Given the description of an element on the screen output the (x, y) to click on. 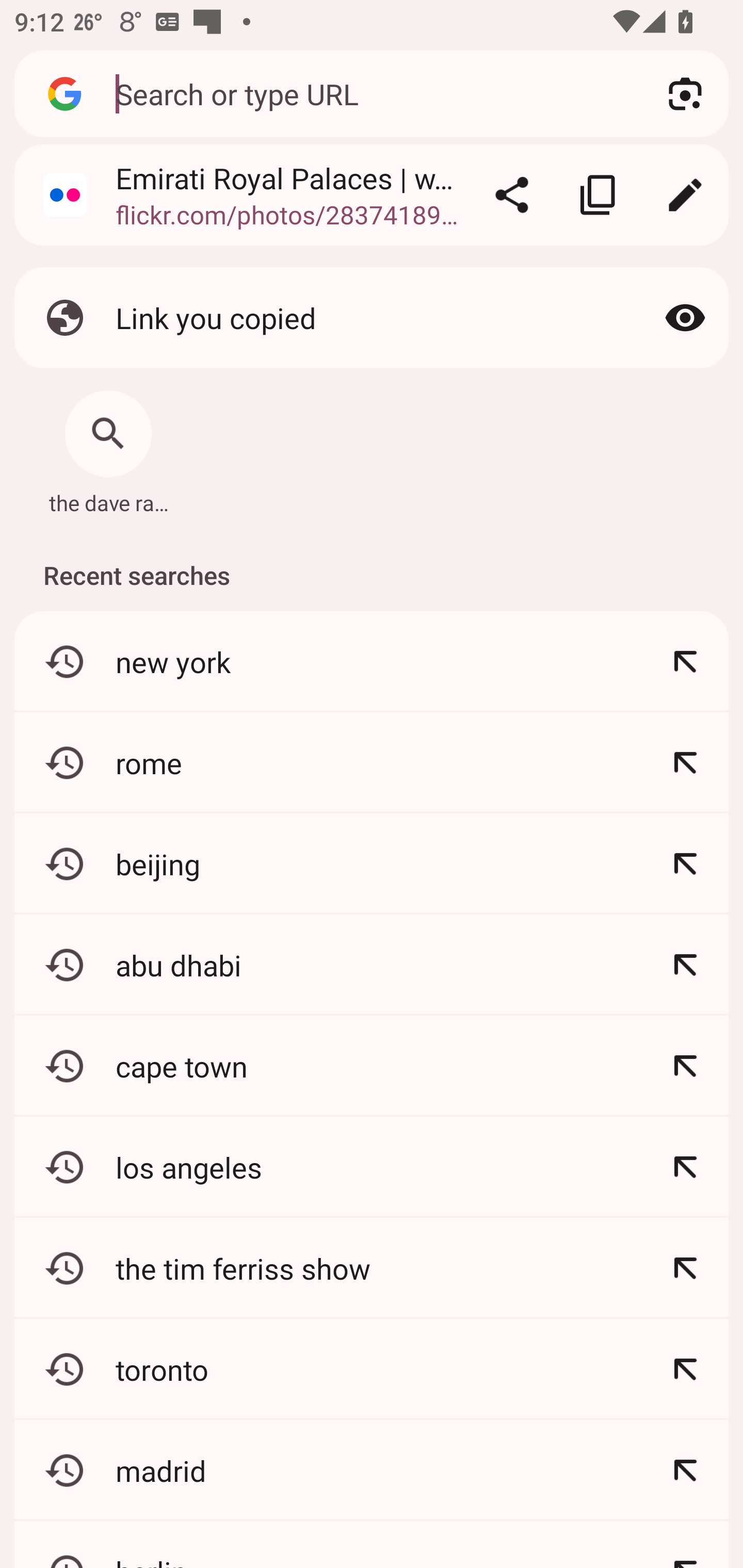
Search with your camera using Google Lens (684, 93)
Search or type URL (367, 92)
Share… (511, 195)
Copy link (598, 195)
Edit (684, 195)
Link you copied Show clipboard contents (371, 317)
Show clipboard contents (684, 317)
Search: the dave ramsey show the dave ramsey show (108, 447)
new york Refine: new york (371, 661)
Refine: new york (684, 661)
rome Refine: rome (371, 762)
Refine: rome (684, 762)
beijing Refine: beijing (371, 863)
Refine: beijing (684, 863)
abu dhabi Refine: abu dhabi (371, 965)
Refine: abu dhabi (684, 965)
cape town Refine: cape town (371, 1066)
Refine: cape town (684, 1066)
los angeles Refine: los angeles (371, 1167)
Refine: los angeles (684, 1167)
the tim ferriss show Refine: the tim ferriss show (371, 1268)
Refine: the tim ferriss show (684, 1268)
toronto Refine: toronto (371, 1369)
Refine: toronto (684, 1369)
madrid Refine: madrid (371, 1470)
Refine: madrid (684, 1470)
